Given the description of an element on the screen output the (x, y) to click on. 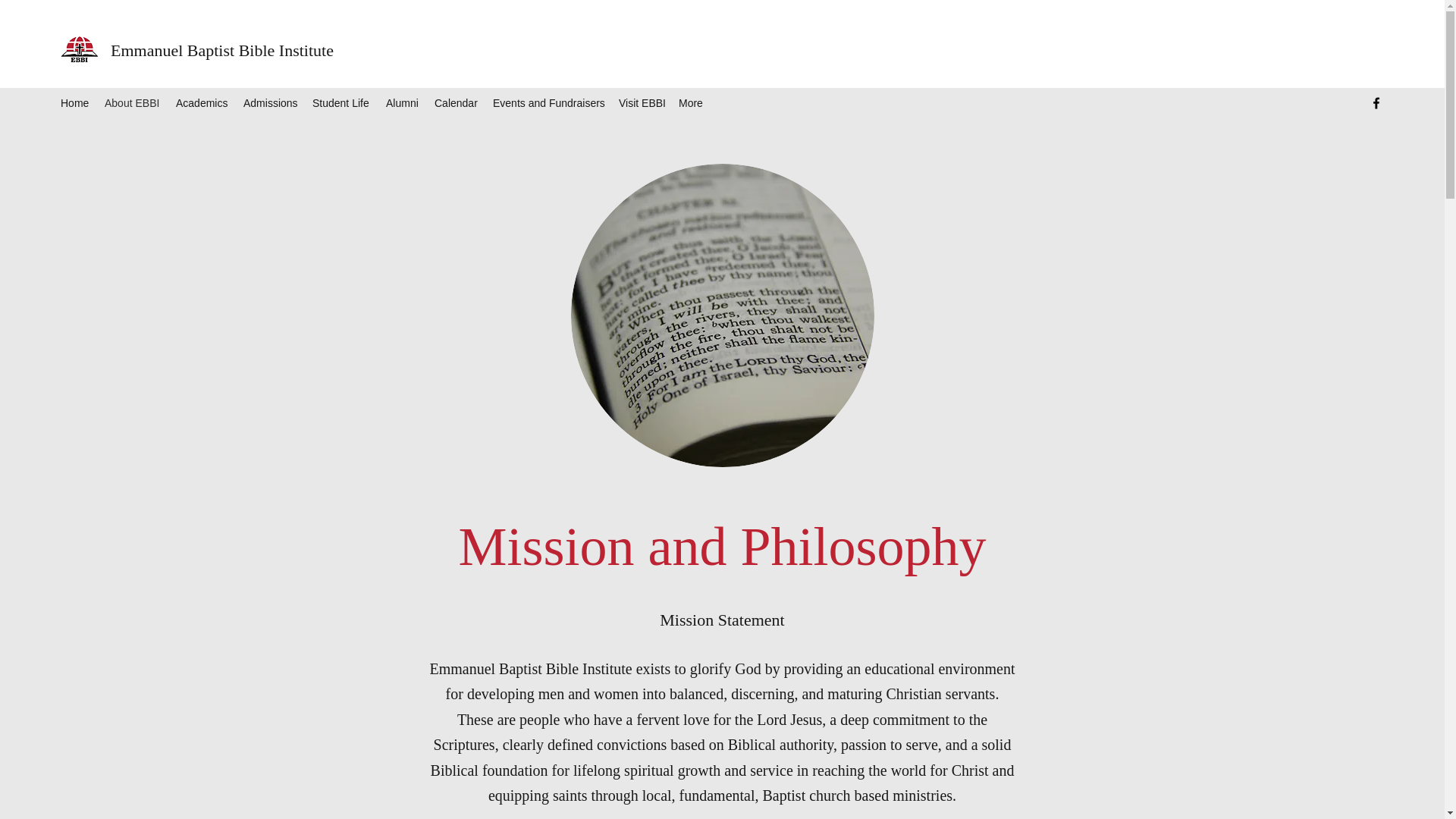
Events and Fundraisers (547, 102)
Academics (201, 102)
Emmanuel Baptist Bible Institute (221, 49)
Calendar (455, 102)
Alumni (402, 102)
Admissions (269, 102)
Student Life (341, 102)
About EBBI (132, 102)
Home (74, 102)
Visit EBBI (641, 102)
